Given the description of an element on the screen output the (x, y) to click on. 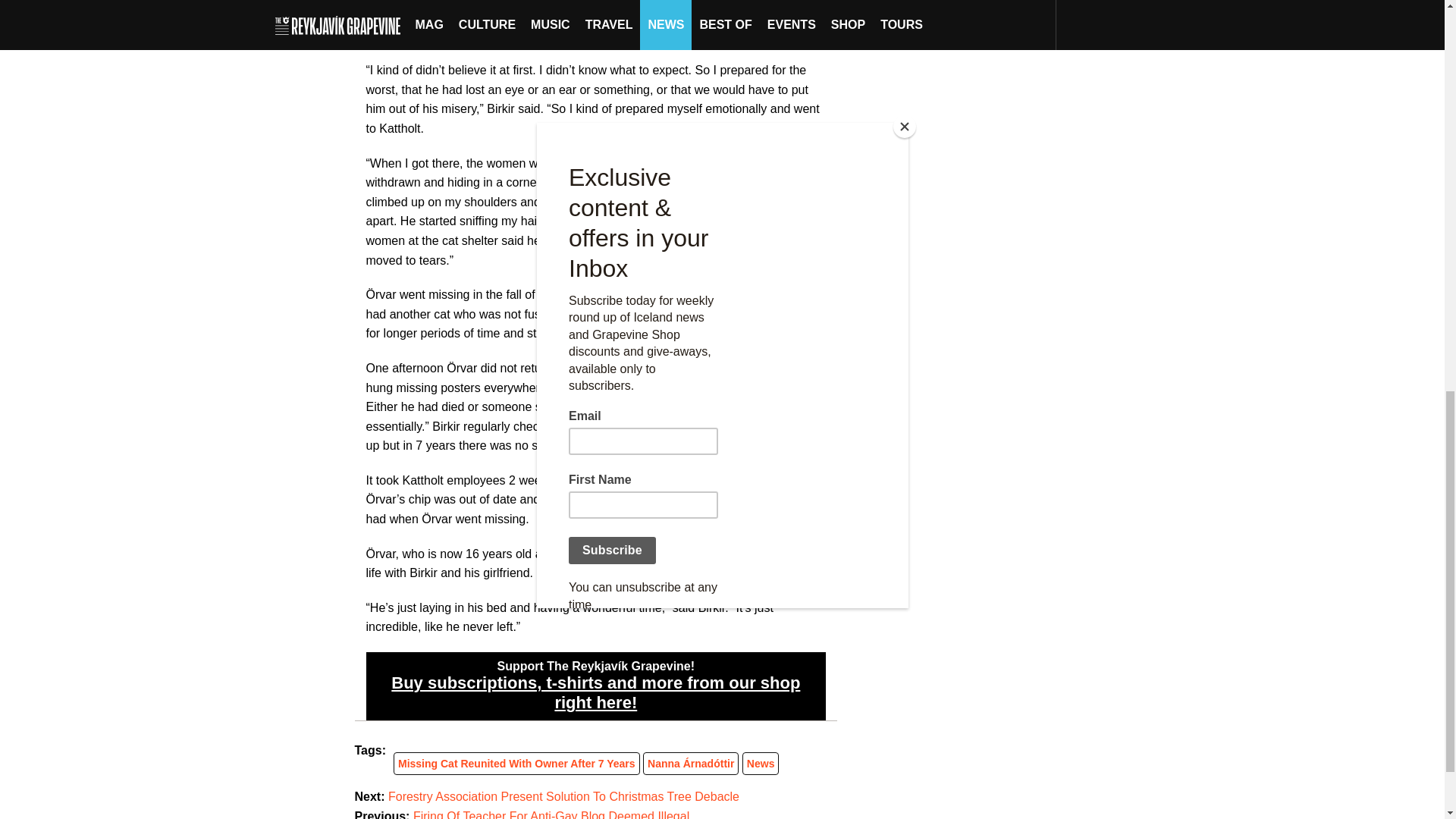
News (760, 763)
Missing Cat Reunited With Owner After 7 Years (515, 763)
Firing Of Teacher For Anti-Gay Blog Deemed Illegal (550, 814)
